Given the description of an element on the screen output the (x, y) to click on. 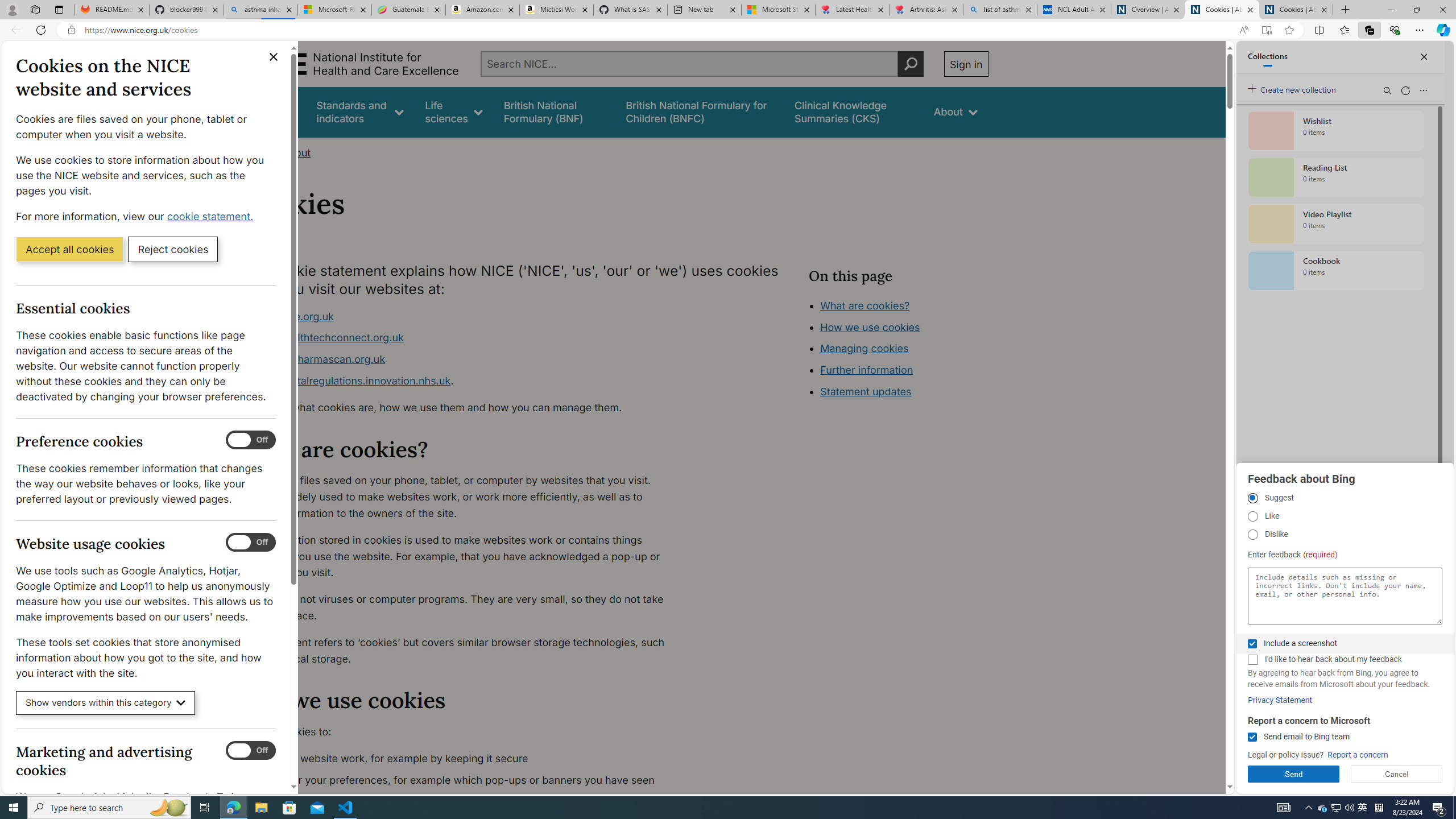
About (296, 152)
Managing cookies (863, 348)
Class: in-page-nav__list (898, 349)
www.digitalregulations.innovation.nhs.uk (351, 380)
Further information (865, 369)
Close cookie banner (273, 56)
Life sciences (453, 111)
Life sciences (453, 111)
About (955, 111)
